Given the description of an element on the screen output the (x, y) to click on. 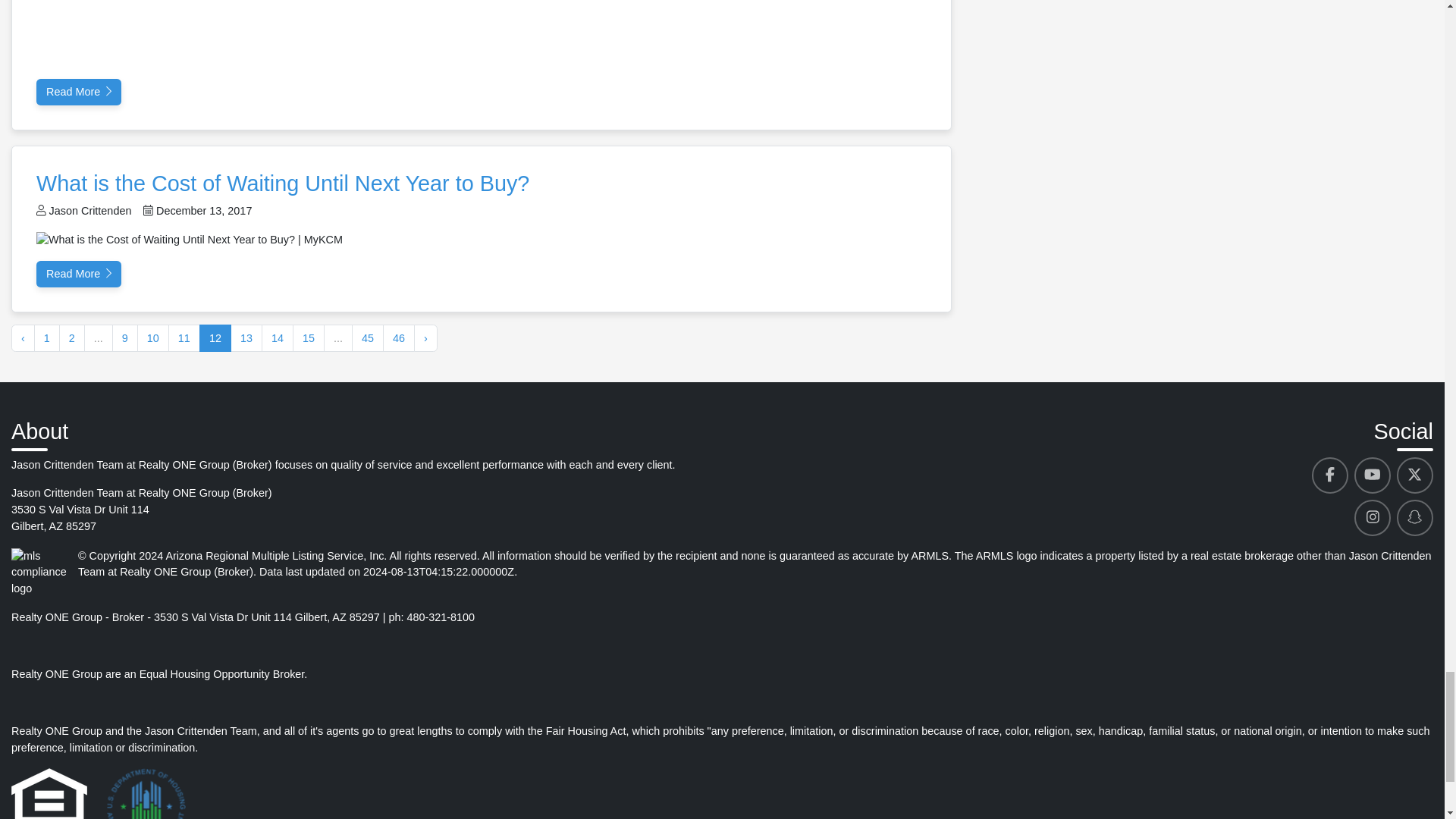
Read More (78, 92)
13 (246, 338)
Read More (78, 274)
2 (71, 338)
What is the Cost of Waiting Until Next Year to Buy? (282, 183)
1 (46, 338)
11 (184, 338)
9 (125, 338)
14 (278, 338)
10 (152, 338)
